Given the description of an element on the screen output the (x, y) to click on. 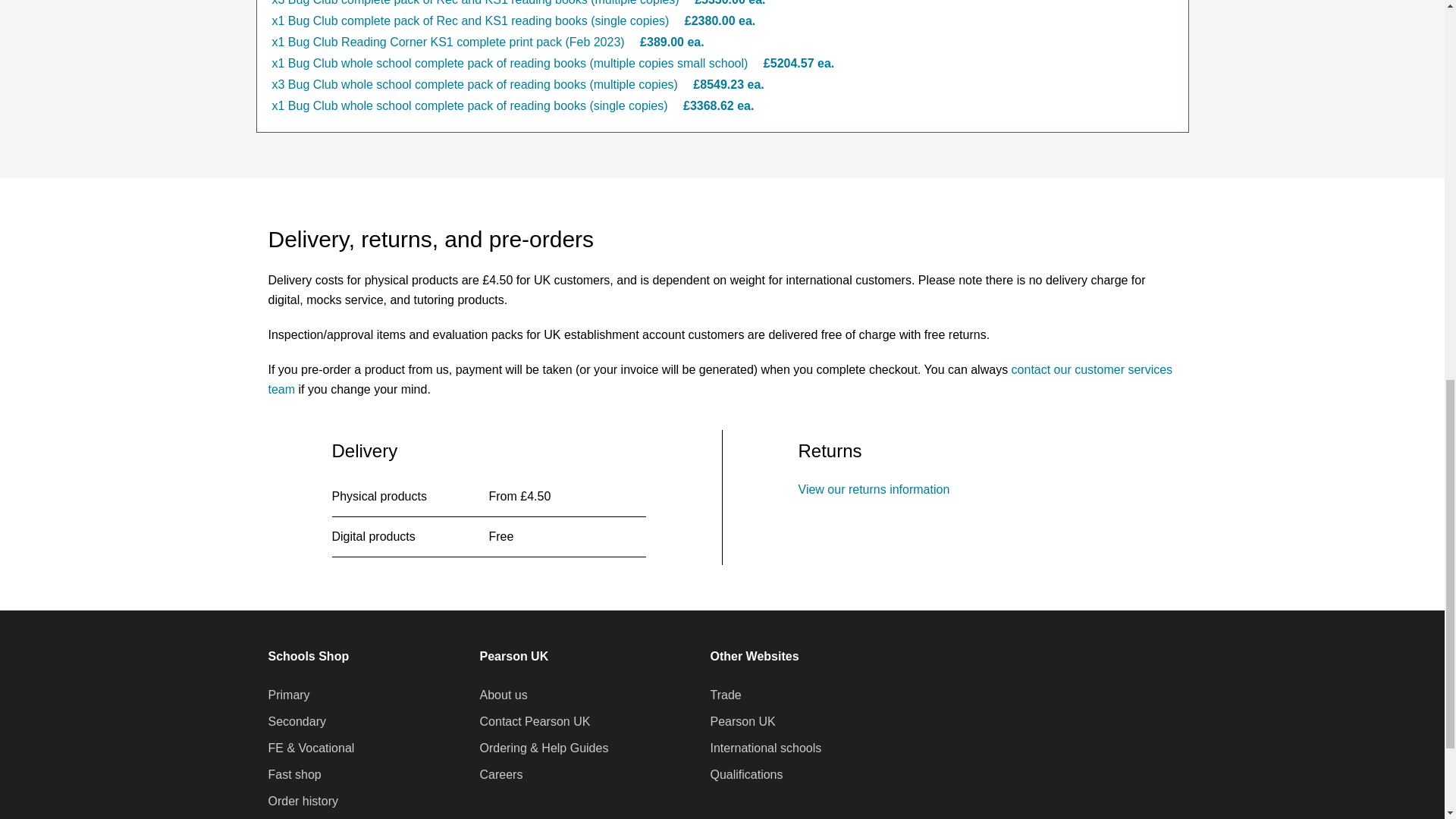
Secondary (296, 721)
Returns (873, 489)
Fast shop (294, 774)
Primary (288, 694)
contact our customer services team (720, 379)
Order history (302, 801)
View our returns information (873, 489)
